Given the description of an element on the screen output the (x, y) to click on. 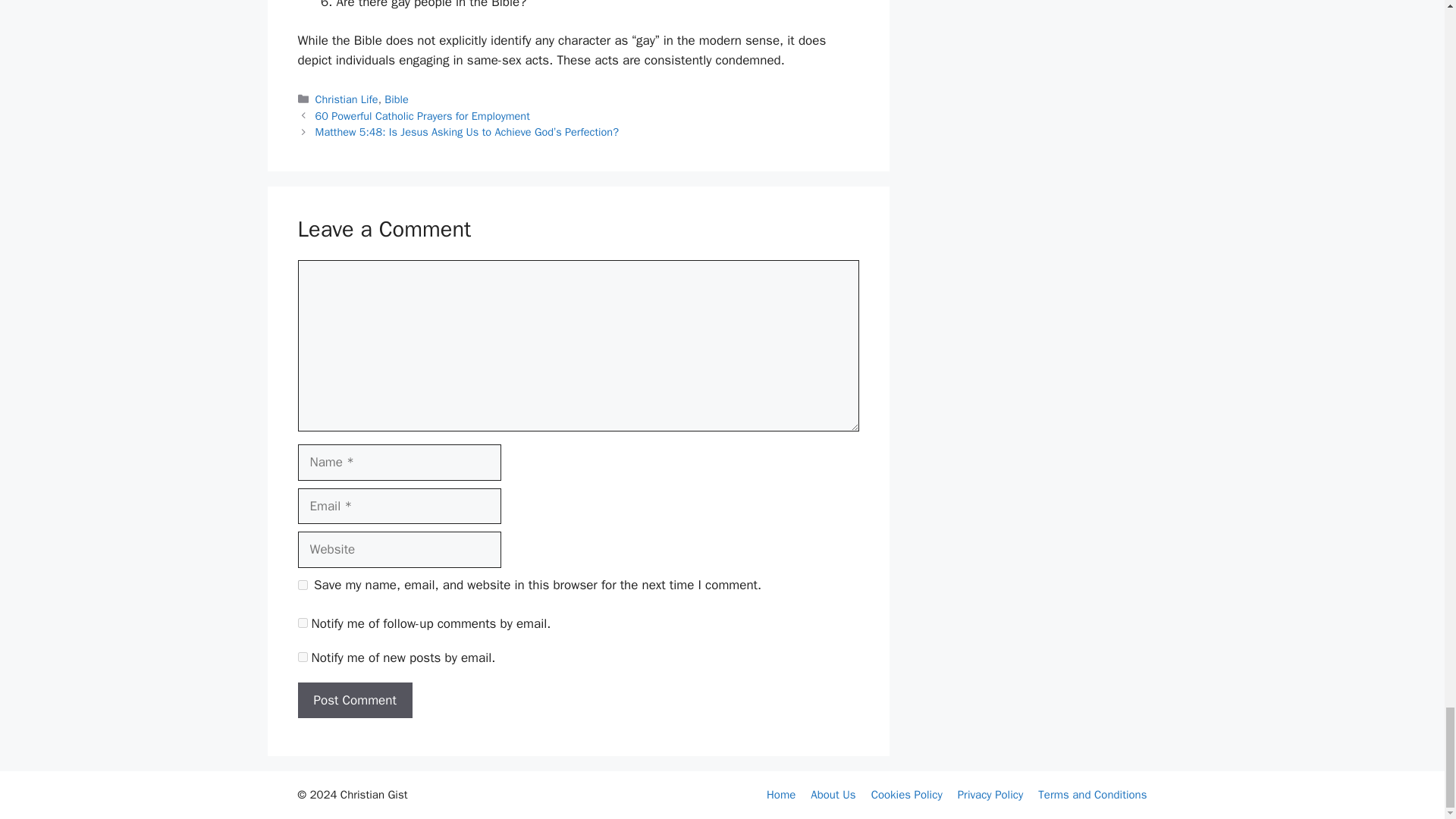
Post Comment (354, 700)
subscribe (302, 656)
Bible (395, 99)
60 Powerful Catholic Prayers for Employment (422, 115)
subscribe (302, 623)
yes (302, 584)
Christian Life (346, 99)
Post Comment (354, 700)
